Given the description of an element on the screen output the (x, y) to click on. 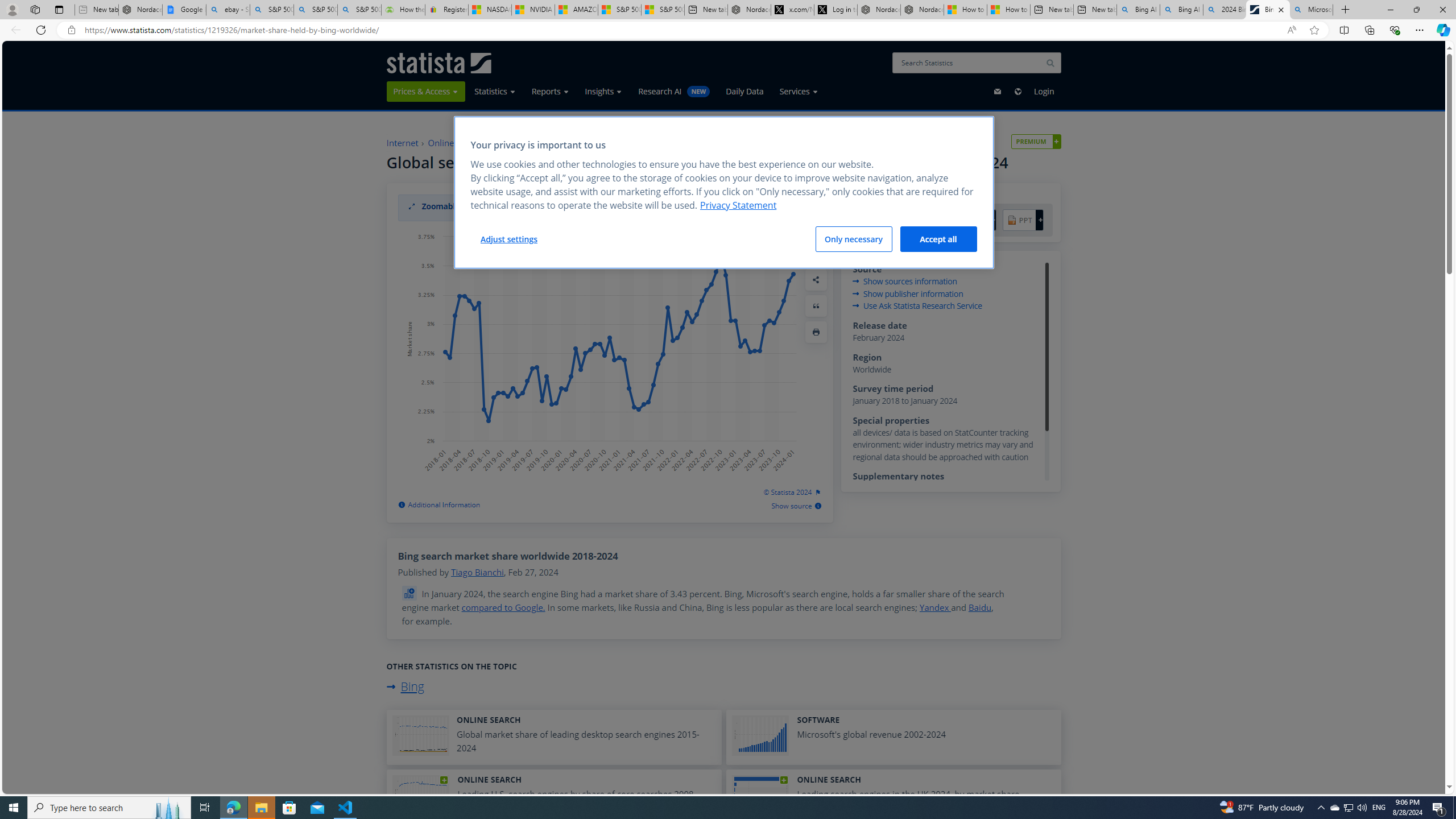
x.com/NordaceOfficial (791, 9)
Statista Logo (438, 62)
ebay - Search (227, 9)
Daily Data (744, 91)
Prices & Access (426, 91)
Services (798, 91)
Google Docs: Online Document Editor | Google Workspace (184, 9)
